Given the description of an element on the screen output the (x, y) to click on. 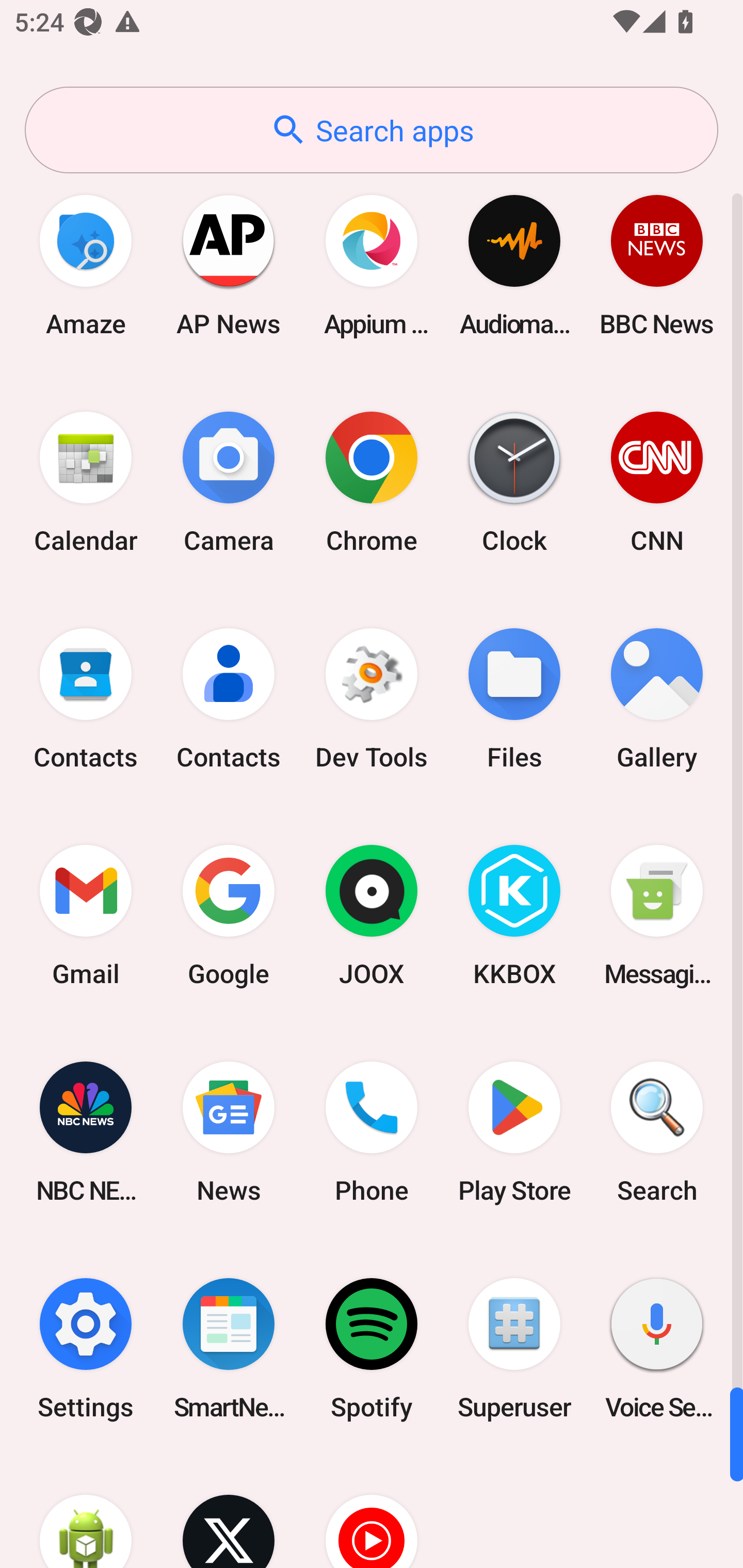
  Search apps (371, 130)
Amaze (85, 264)
AP News (228, 264)
Appium Settings (371, 264)
Audio­mack (514, 264)
BBC News (656, 264)
Calendar (85, 482)
Camera (228, 482)
Chrome (371, 482)
Clock (514, 482)
CNN (656, 482)
Contacts (85, 699)
Contacts (228, 699)
Dev Tools (371, 699)
Files (514, 699)
Gallery (656, 699)
Gmail (85, 915)
Google (228, 915)
JOOX (371, 915)
KKBOX (514, 915)
Messaging (656, 915)
NBC NEWS (85, 1131)
News (228, 1131)
Phone (371, 1131)
Play Store (514, 1131)
Search (656, 1131)
Settings (85, 1348)
SmartNews (228, 1348)
Spotify (371, 1348)
Superuser (514, 1348)
Voice Search (656, 1348)
WebView Browser Tester (85, 1512)
X (228, 1512)
YT Music (371, 1512)
